Given the description of an element on the screen output the (x, y) to click on. 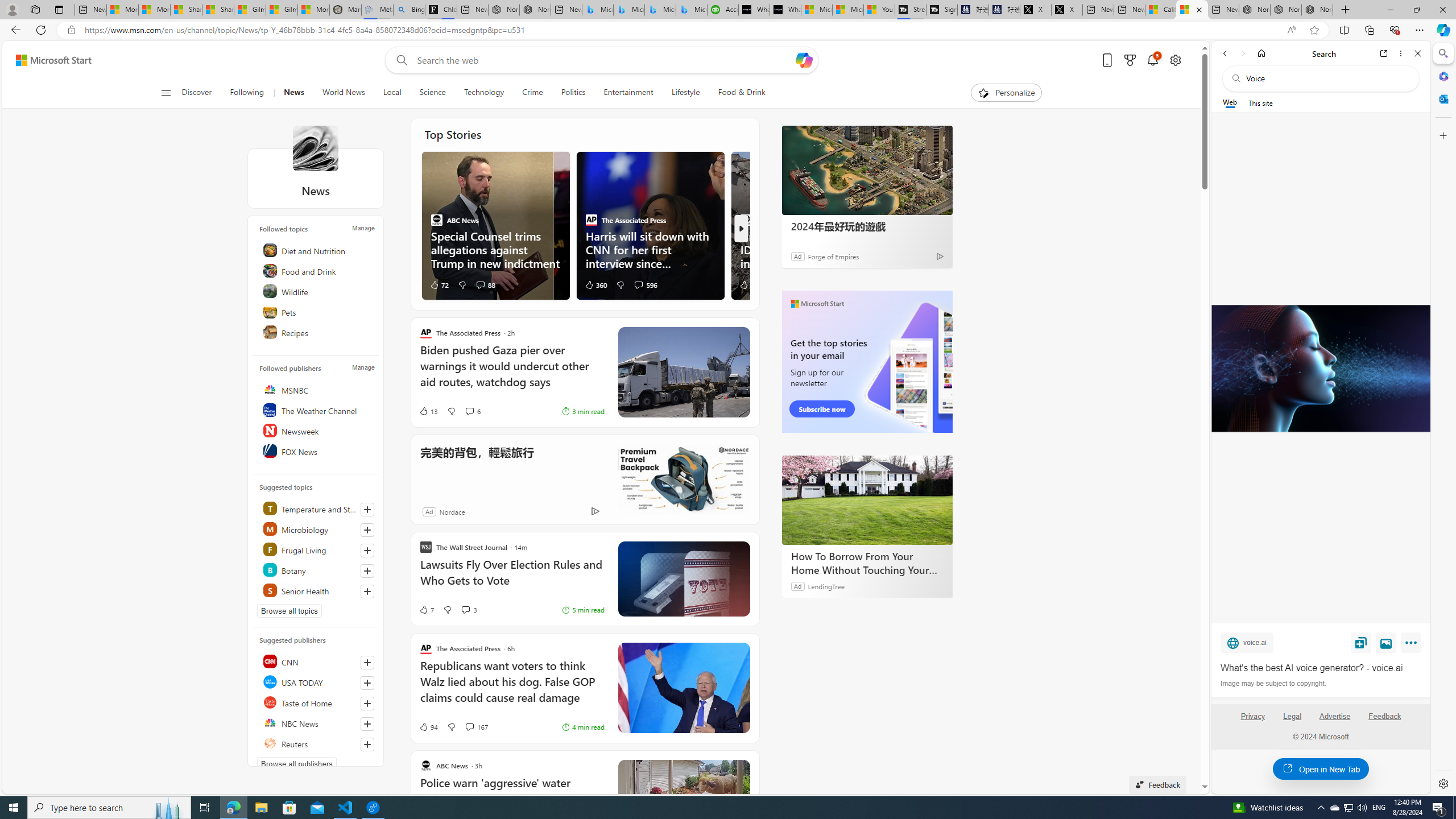
View comments 167 Comment (469, 726)
Lifestyle (685, 92)
Notifications (1152, 60)
Feedback (1384, 715)
View comments 167 Comment (476, 726)
Web search (398, 60)
See more (741, 767)
Settings (1442, 783)
CNN (317, 661)
Diet and Nutrition (317, 249)
